Given the description of an element on the screen output the (x, y) to click on. 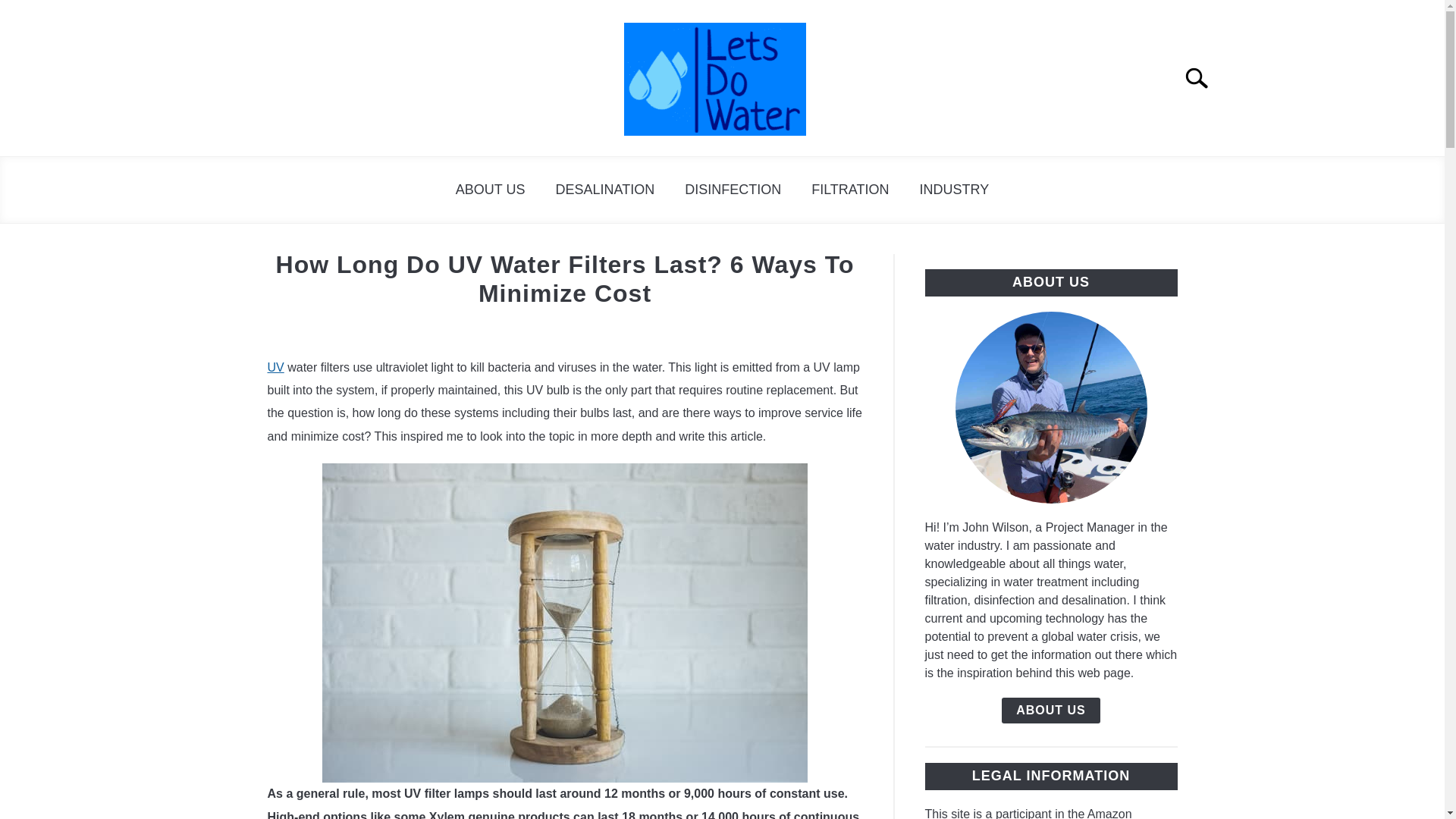
FILTRATION (850, 189)
ABOUT US (1050, 710)
ABOUT US (490, 189)
INDUSTRY (954, 189)
DISINFECTION (732, 189)
Search (1203, 77)
DESALINATION (604, 189)
UV (274, 367)
